Given the description of an element on the screen output the (x, y) to click on. 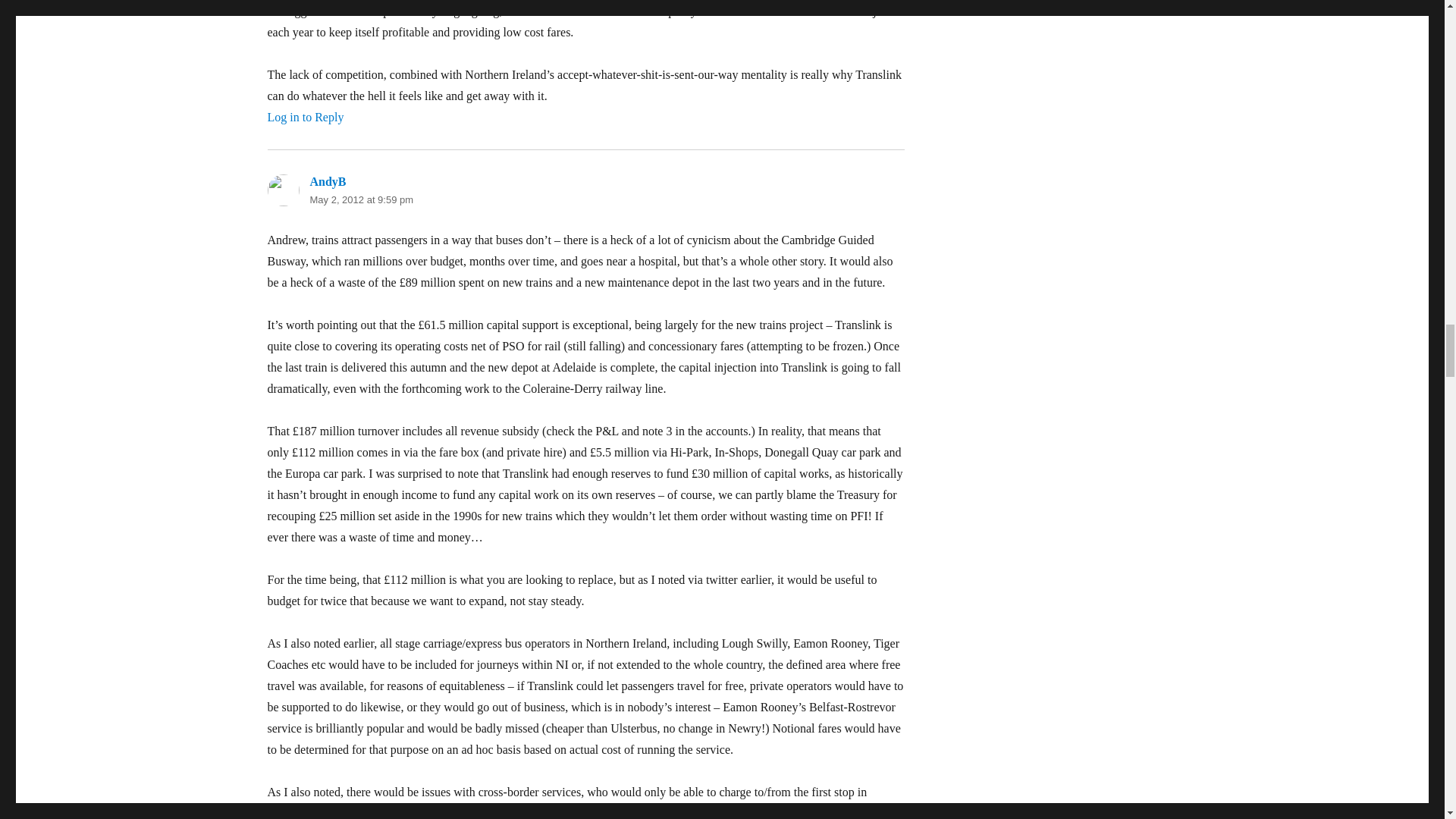
May 2, 2012 at 9:59 pm (360, 199)
Log in to Reply (304, 116)
AndyB (327, 181)
